Given the description of an element on the screen output the (x, y) to click on. 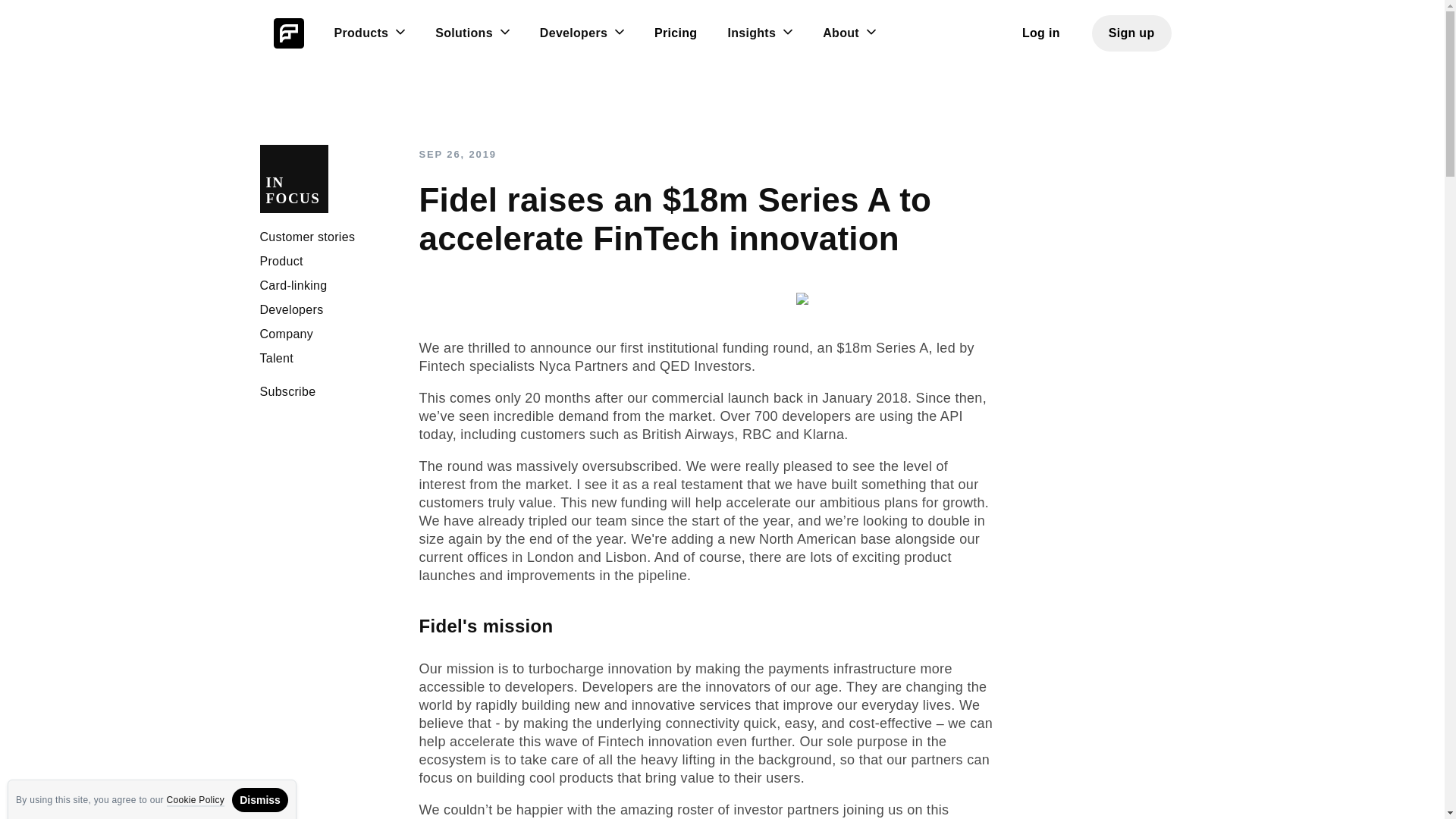
Log in (1041, 33)
Developers (291, 309)
Pricing (675, 33)
Sign up (1132, 33)
Product (280, 261)
Company (286, 334)
Talent (276, 358)
Customer stories (307, 237)
Card-linking (327, 178)
